Given the description of an element on the screen output the (x, y) to click on. 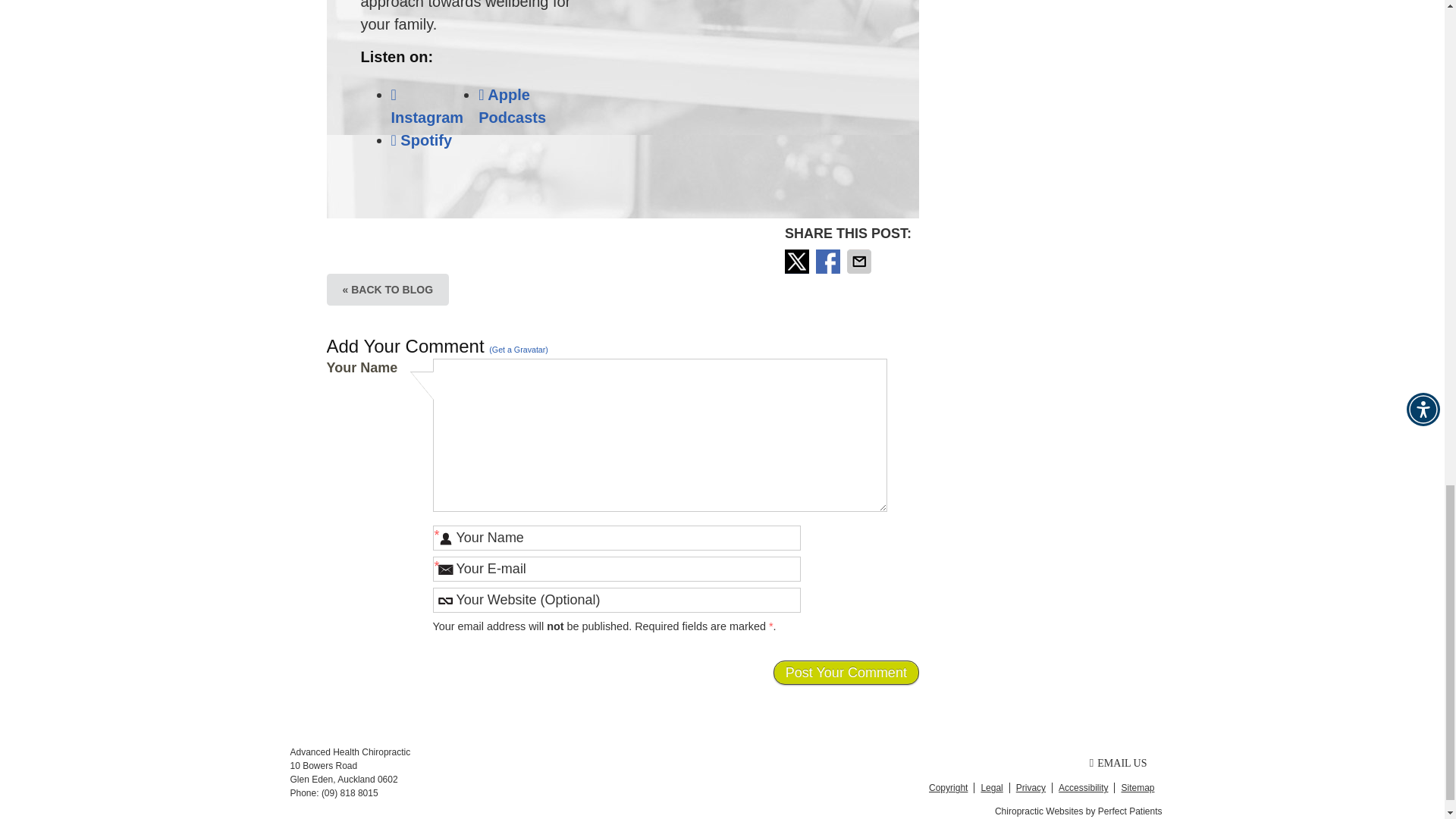
Footer Links (1038, 787)
Your Name (616, 537)
Your E-mail (616, 568)
Post Your Comment (845, 672)
Your E-mail (616, 568)
Apple Podcasts (512, 106)
Your Name (616, 537)
Share via Email (861, 261)
Spotify (421, 139)
Contact (1117, 762)
